Given the description of an element on the screen output the (x, y) to click on. 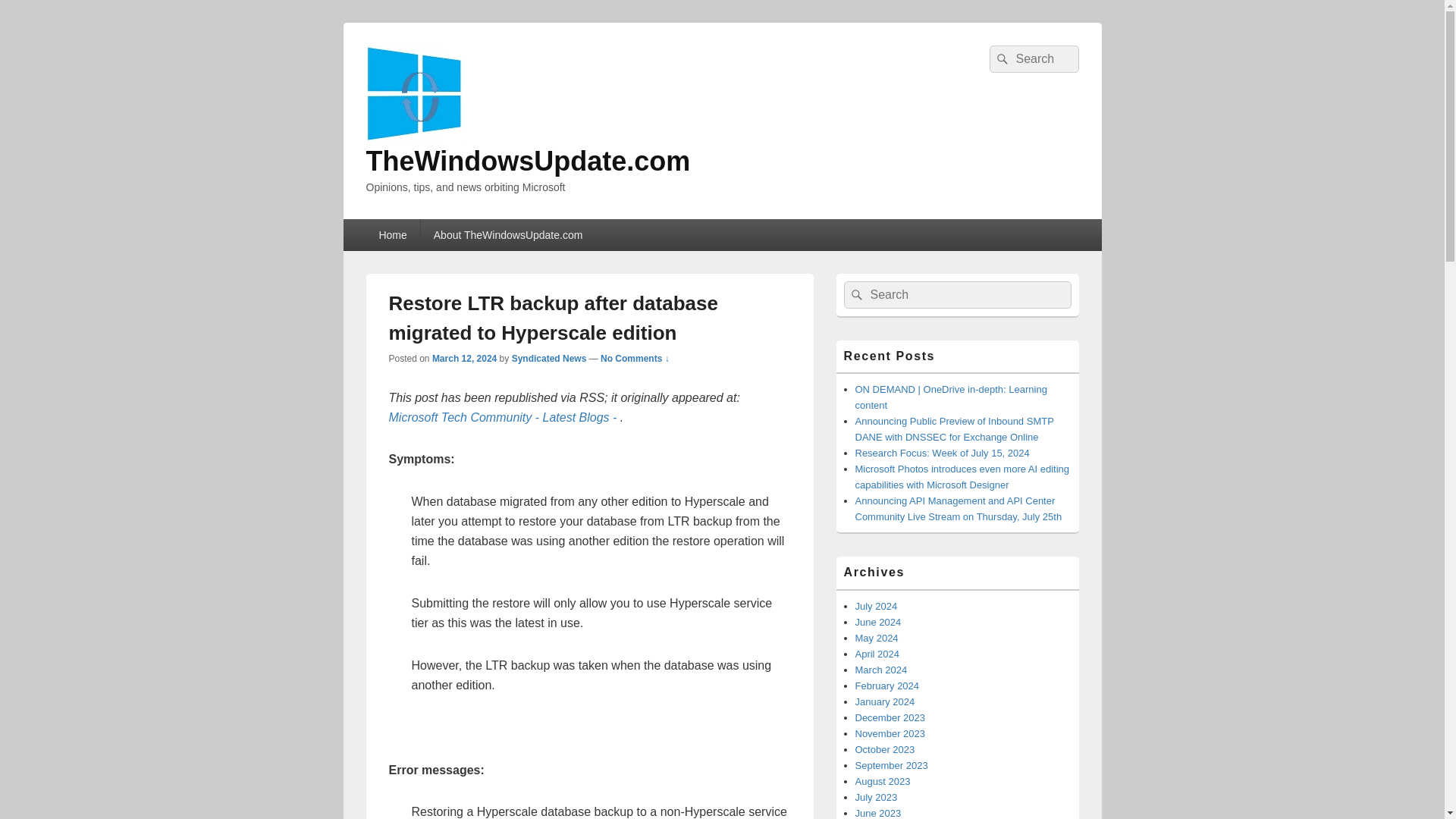
Microsoft Tech Community - Latest Blogs - (504, 417)
November 2023 (891, 733)
June 2024 (878, 622)
About TheWindowsUpdate.com (507, 234)
July 2023 (877, 797)
Search for: (1033, 58)
March 2024 (881, 669)
Search (999, 58)
October 2023 (885, 749)
Research Focus: Week of July 15, 2024 (942, 452)
April 2024 (877, 654)
August 2023 (883, 781)
View all posts by Syndicated News (549, 357)
March 12, 2024 (464, 357)
